Given the description of an element on the screen output the (x, y) to click on. 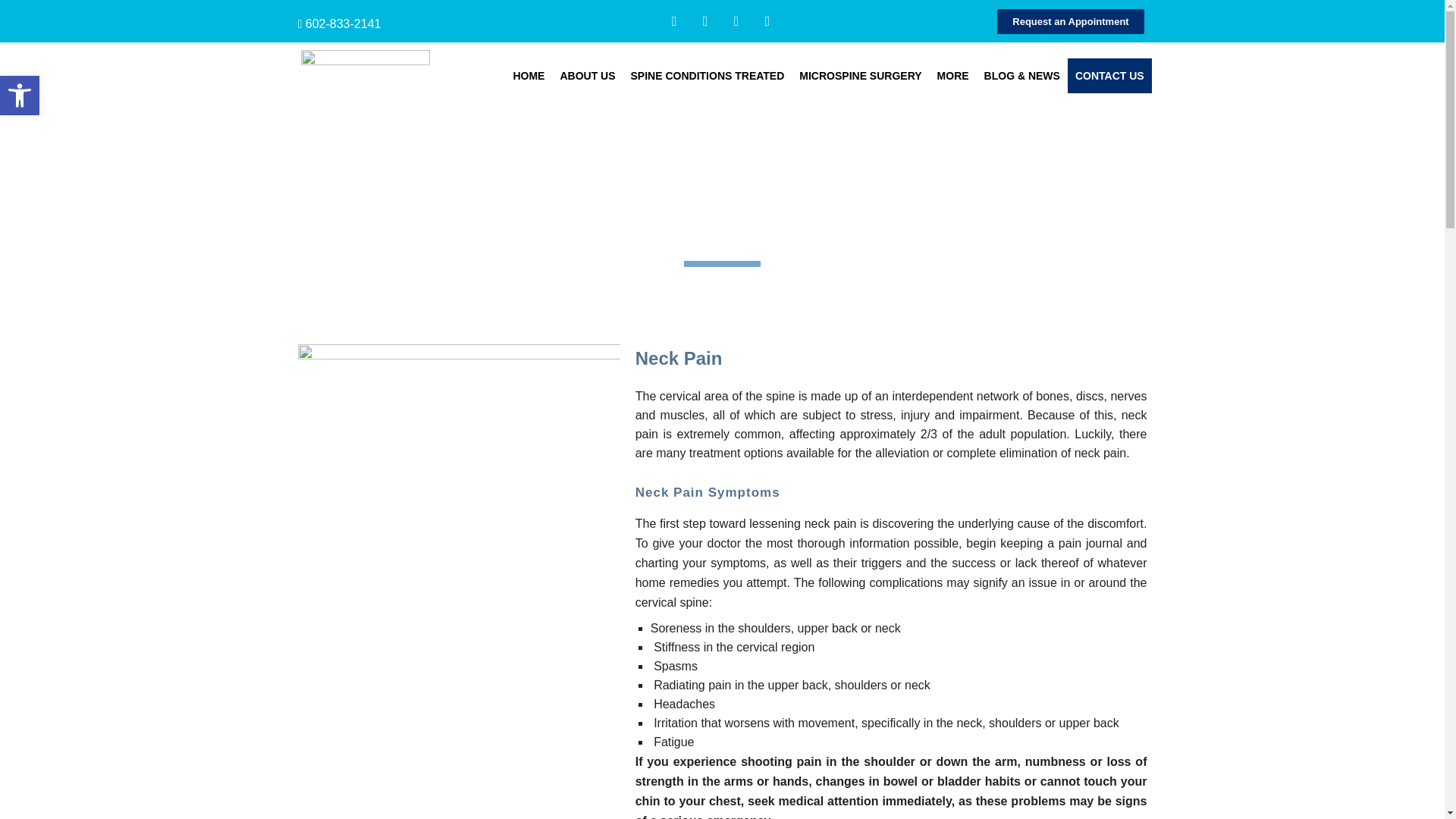
602-833-2141 (343, 23)
HOME (528, 75)
Request an Appointment (1069, 21)
MICROSPINE SURGERY (860, 75)
602-833-2141 (343, 23)
ABOUT US (587, 75)
Accessibility Tools (19, 95)
Accessibility Tools (19, 95)
SPINE CONDITIONS TREATED (707, 75)
